Given the description of an element on the screen output the (x, y) to click on. 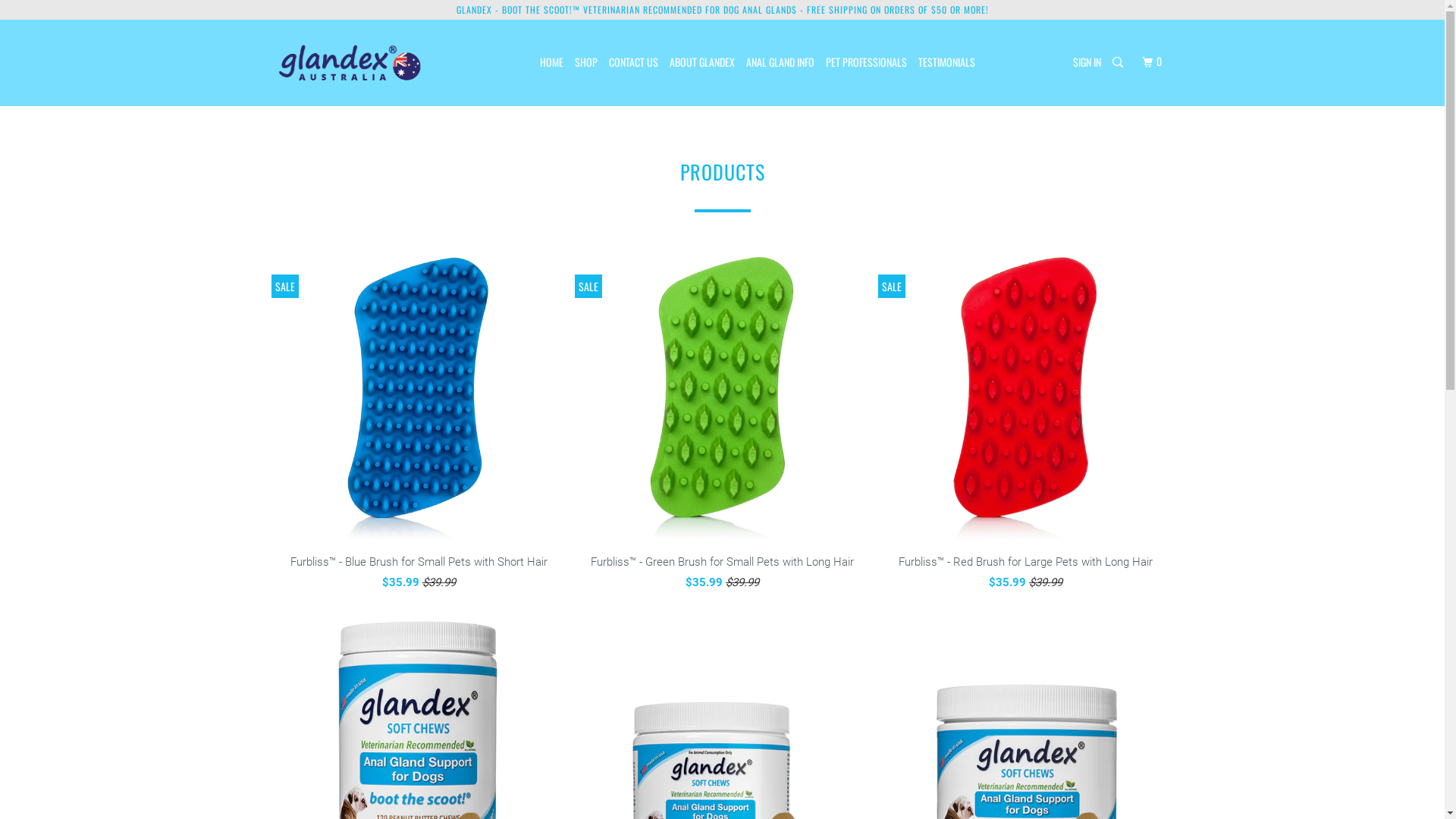
glandex.com.au Element type: hover (351, 62)
0 Element type: text (1153, 62)
SIGN IN Element type: text (1087, 62)
HOME Element type: text (551, 62)
ABOUT GLANDEX Element type: text (701, 62)
SHOP Element type: text (585, 62)
PET PROFESSIONALS Element type: text (866, 62)
ANAL GLAND INFO Element type: text (780, 62)
Search Element type: hover (1118, 62)
TESTIMONIALS Element type: text (946, 62)
CONTACT US Element type: text (633, 62)
